Given the description of an element on the screen output the (x, y) to click on. 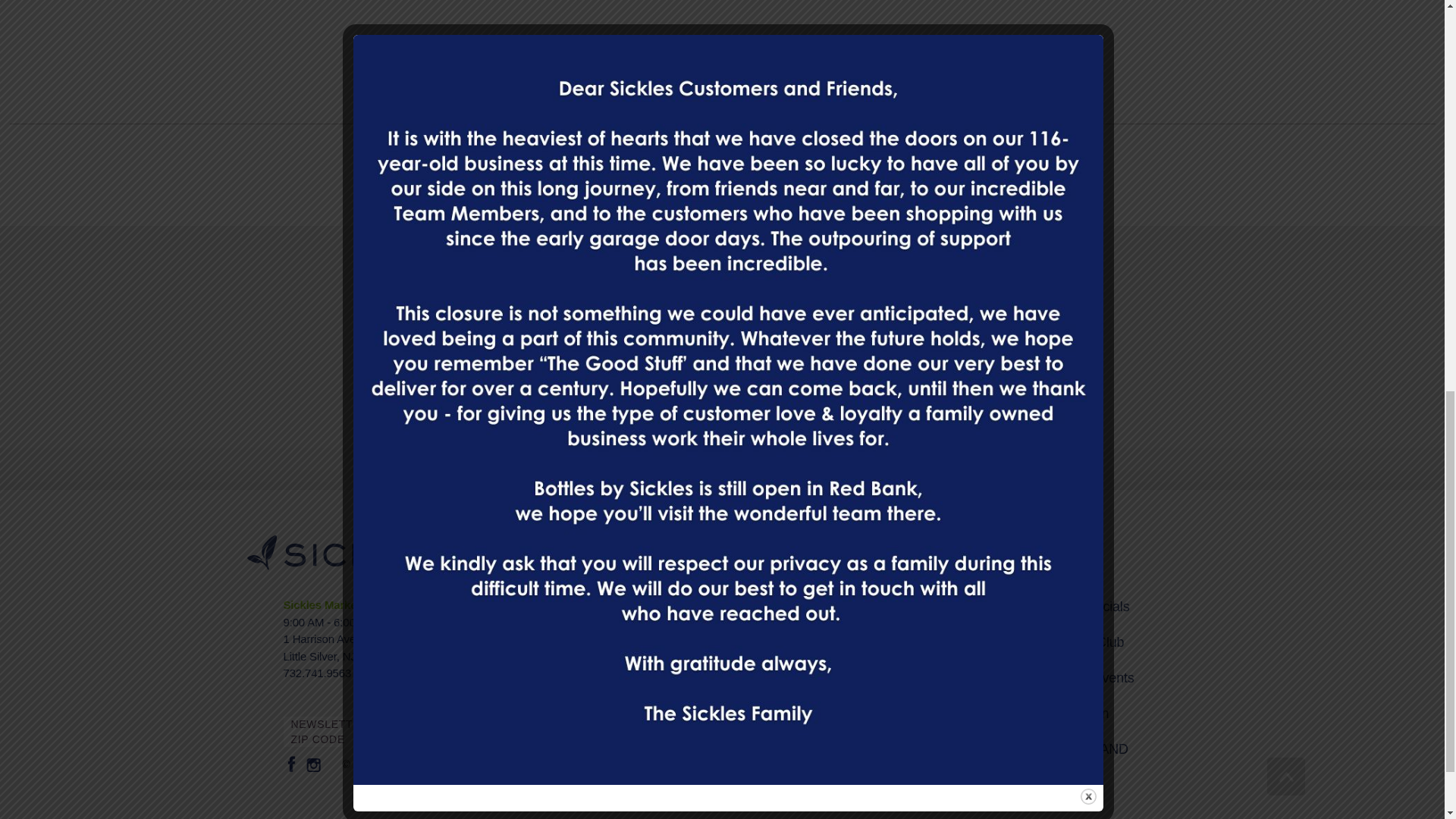
Apply (941, 400)
